Given the description of an element on the screen output the (x, y) to click on. 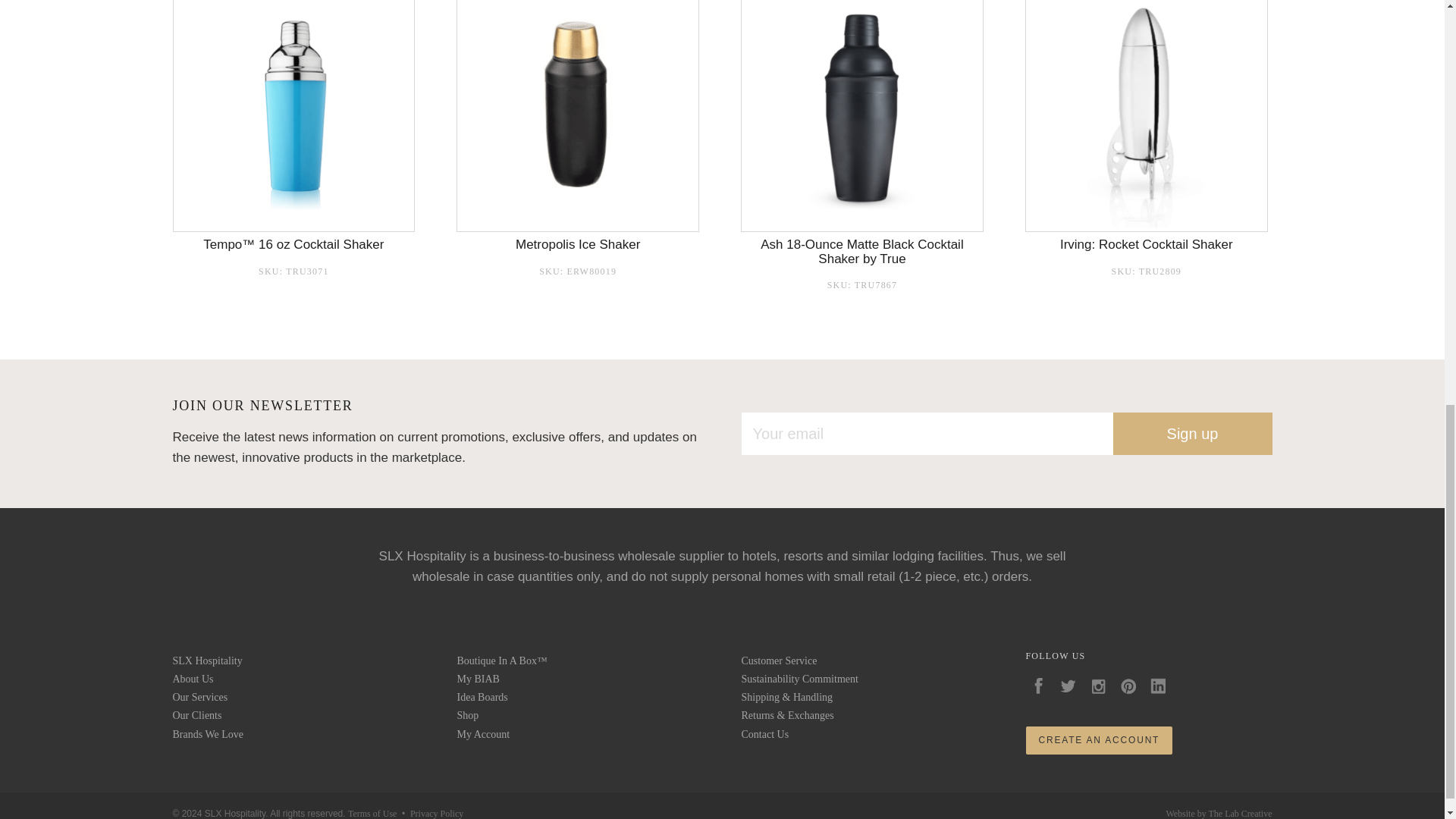
Sign up (1192, 433)
